Given the description of an element on the screen output the (x, y) to click on. 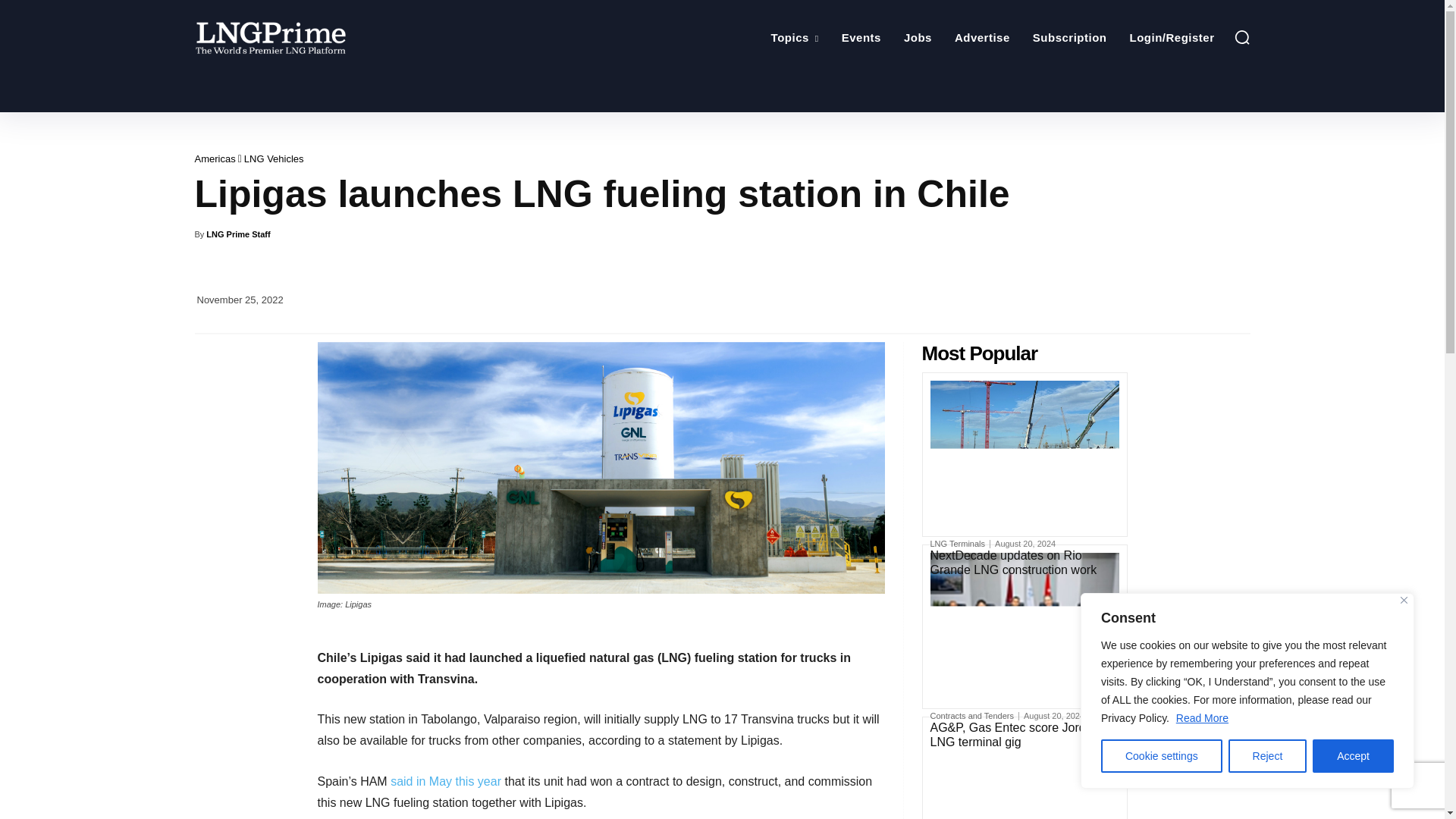
Reject (1267, 756)
Accept (1353, 756)
Cookie settings (1161, 756)
Read More (1201, 717)
